Given the description of an element on the screen output the (x, y) to click on. 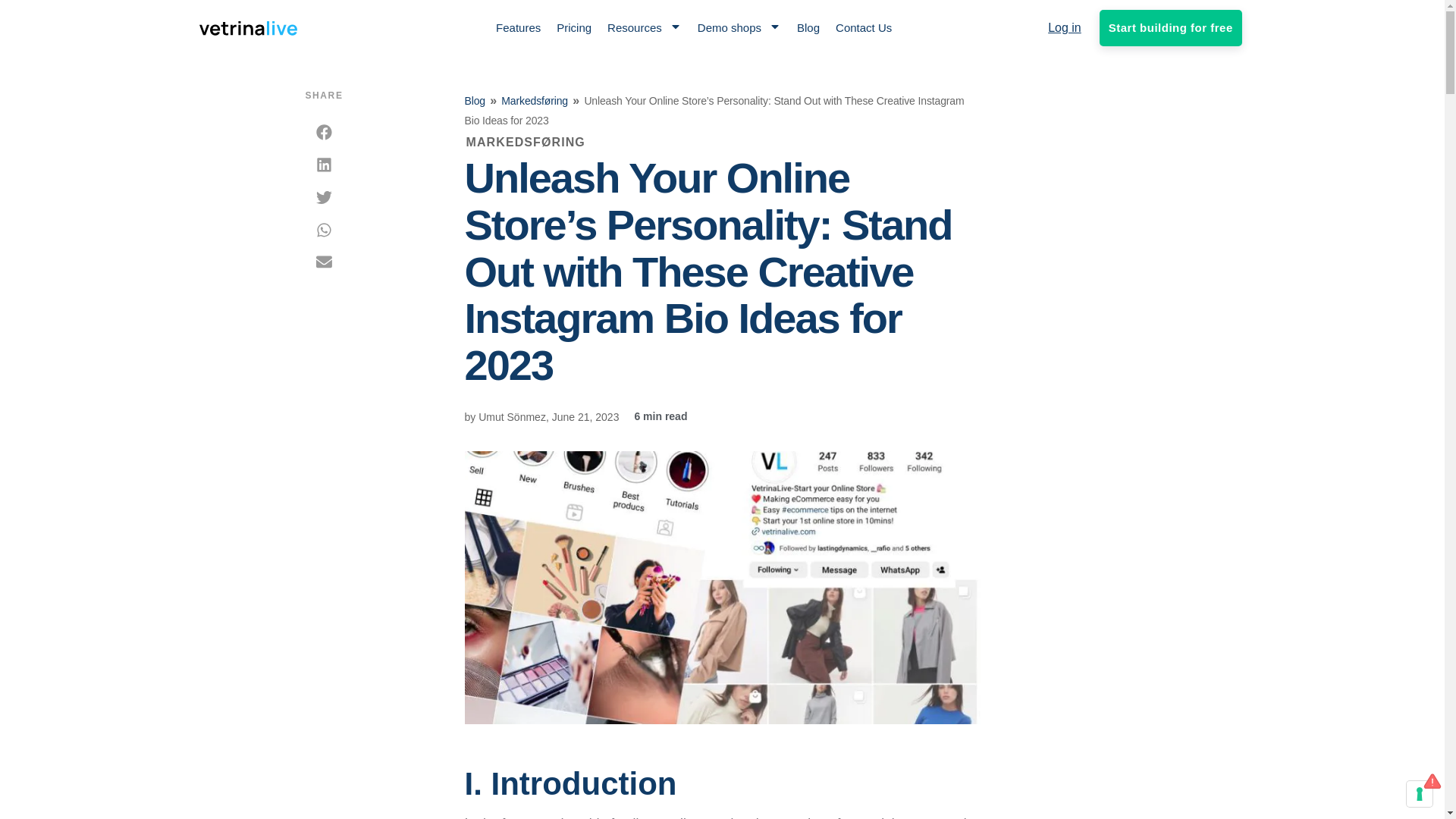
Demo shops (738, 27)
Contact Us (863, 27)
Log in (1064, 27)
Features (518, 27)
Start building for free (1170, 27)
Resources (644, 27)
